Given the description of an element on the screen output the (x, y) to click on. 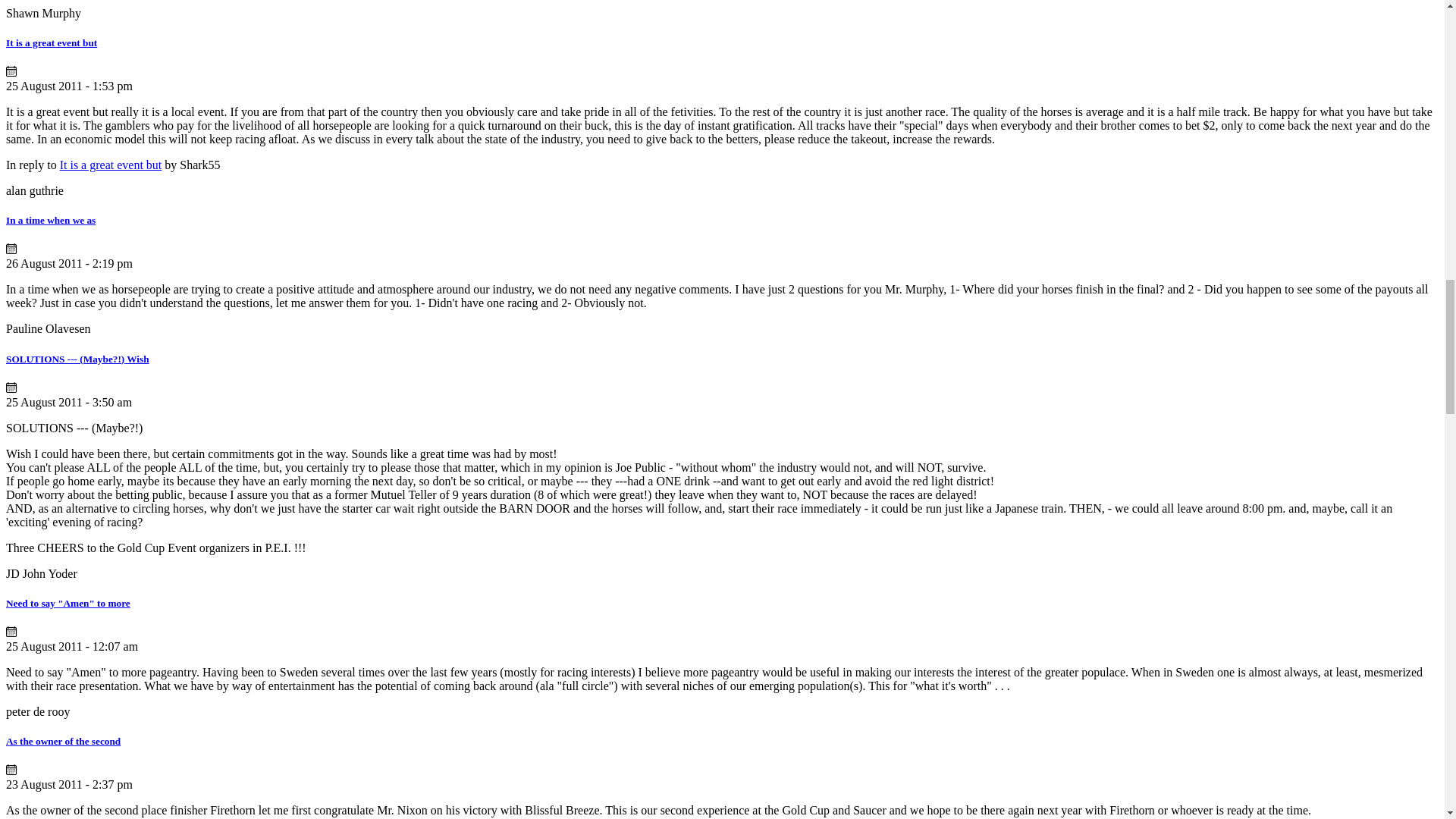
In a time when we as (50, 220)
Need to say "Amen" to more (68, 603)
It is a great event but (110, 164)
It is a great event but (51, 42)
As the owner of the second (62, 740)
